Given the description of an element on the screen output the (x, y) to click on. 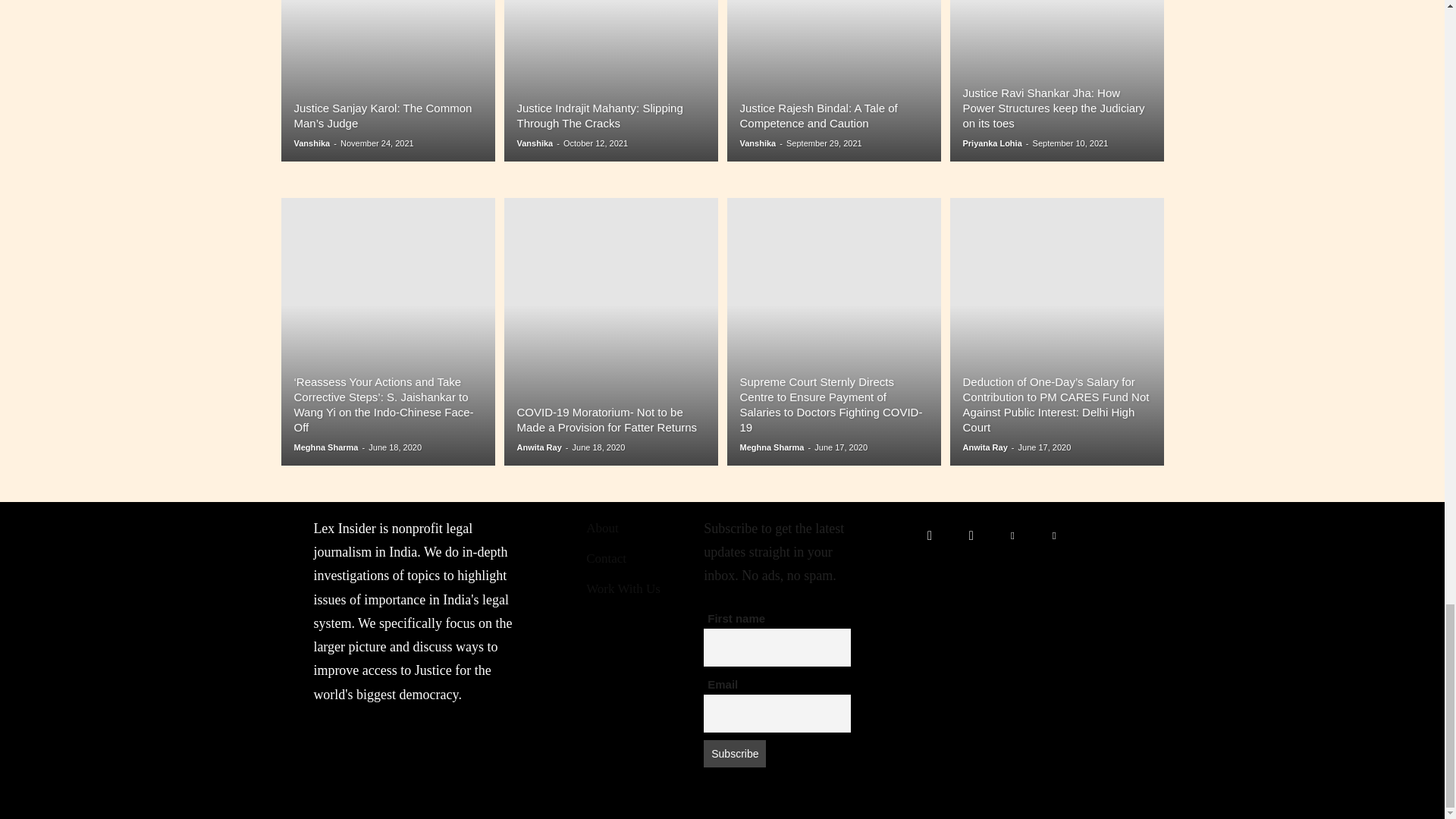
Justice Rajesh Bindal: A Tale of Competence and Caution (833, 80)
Subscribe (734, 753)
Justice Rajesh Bindal: A Tale of Competence and Caution (818, 115)
Justice Indrajit Mahanty: Slipping Through The Cracks (599, 115)
Justice Indrajit Mahanty: Slipping Through The Cracks (610, 80)
